Given the description of an element on the screen output the (x, y) to click on. 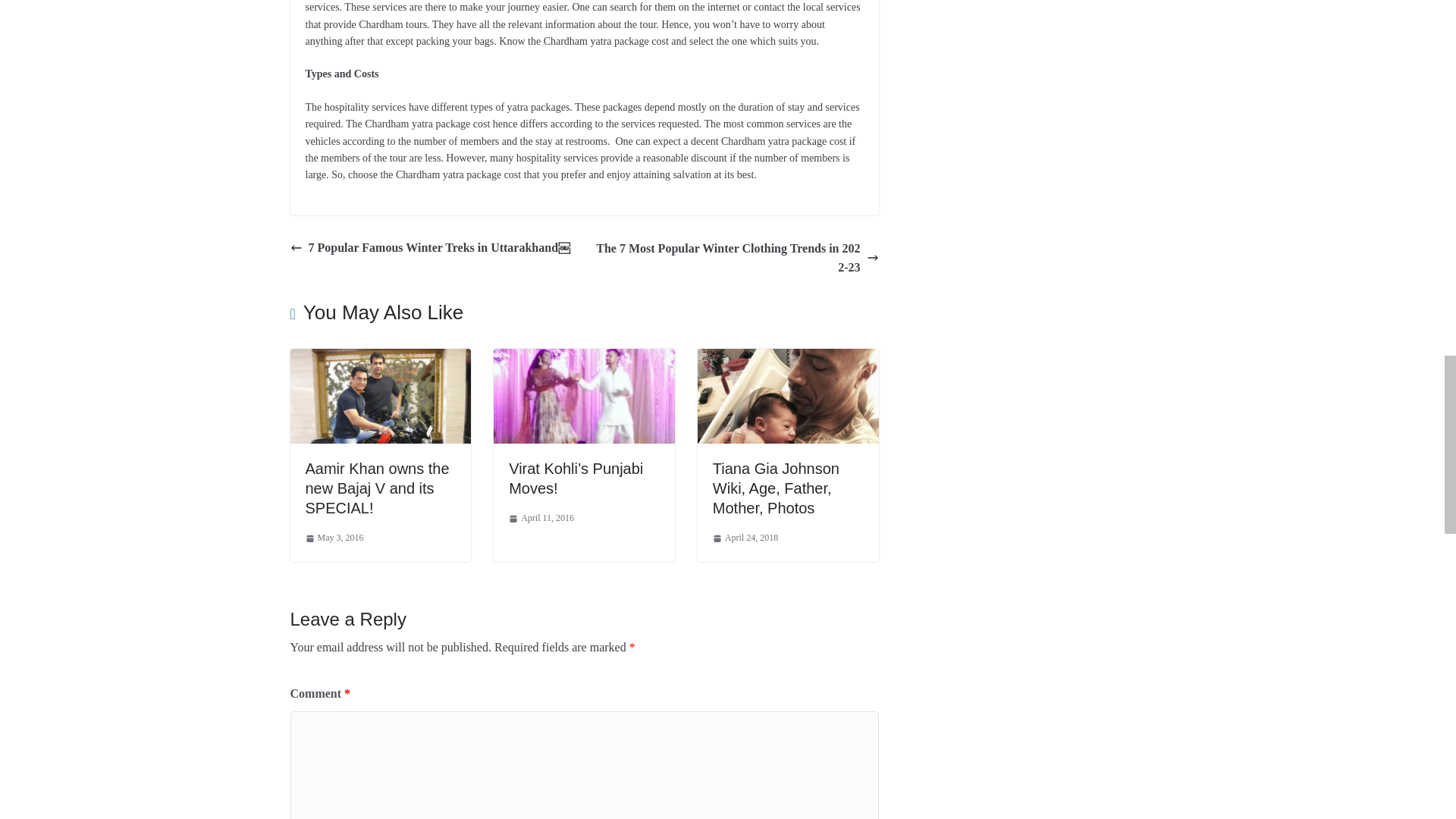
The 7 Most Popular Winter Clothing Trends in 2022-23 (734, 258)
May 3, 2016 (333, 538)
Aamir Khan owns the new Bajaj V and its SPECIAL! (376, 488)
10:39 am (333, 538)
Aamir Khan owns the new Bajaj V and its SPECIAL! (379, 358)
Aamir Khan owns the new Bajaj V and its SPECIAL! (376, 488)
April 11, 2016 (540, 518)
